Given the description of an element on the screen output the (x, y) to click on. 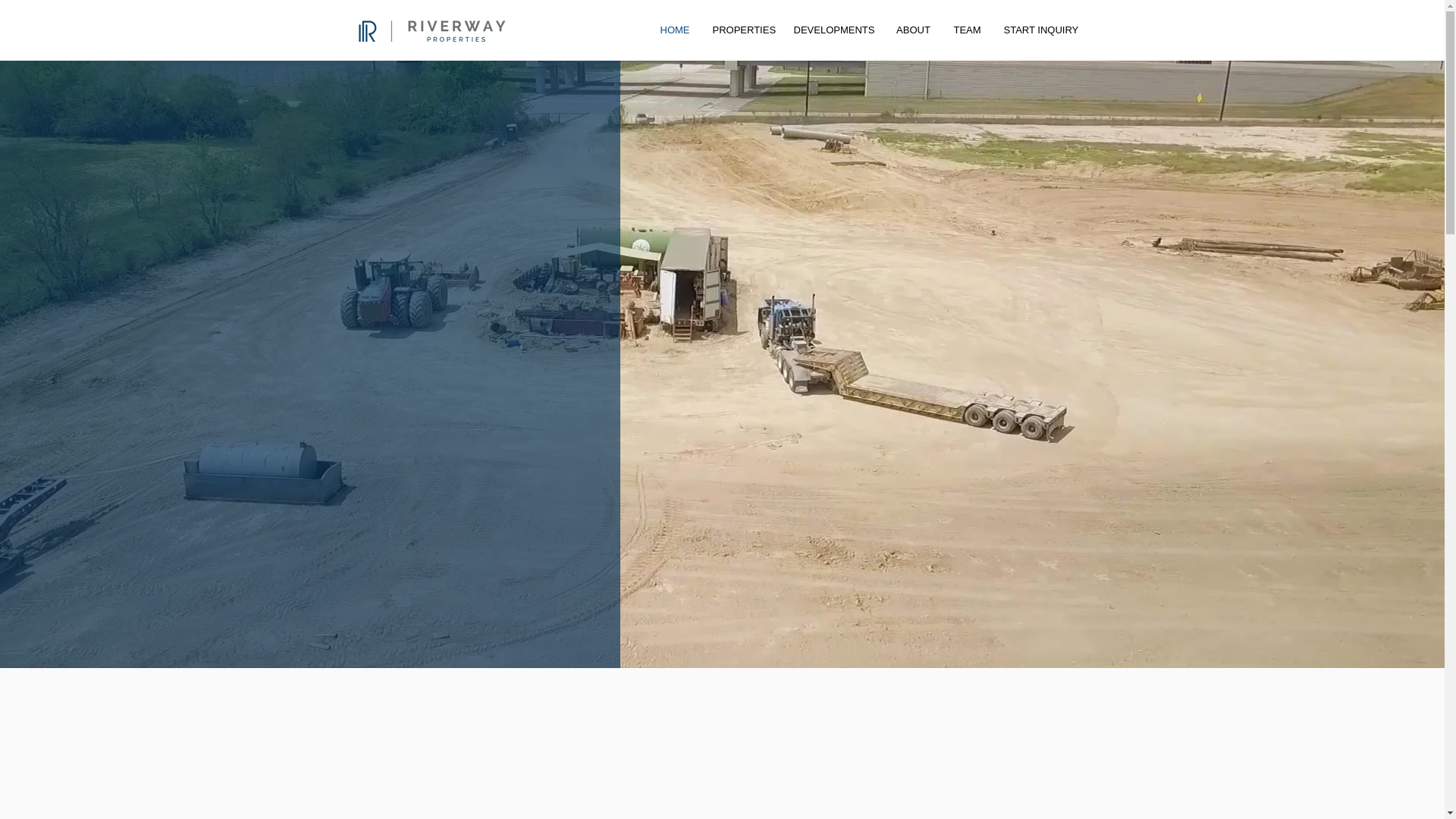
START INQUIRY (1038, 29)
TEAM (966, 29)
HOME (675, 29)
DEVELOPMENTS (834, 29)
PROPERTIES (740, 29)
ABOUT (912, 29)
